Given the description of an element on the screen output the (x, y) to click on. 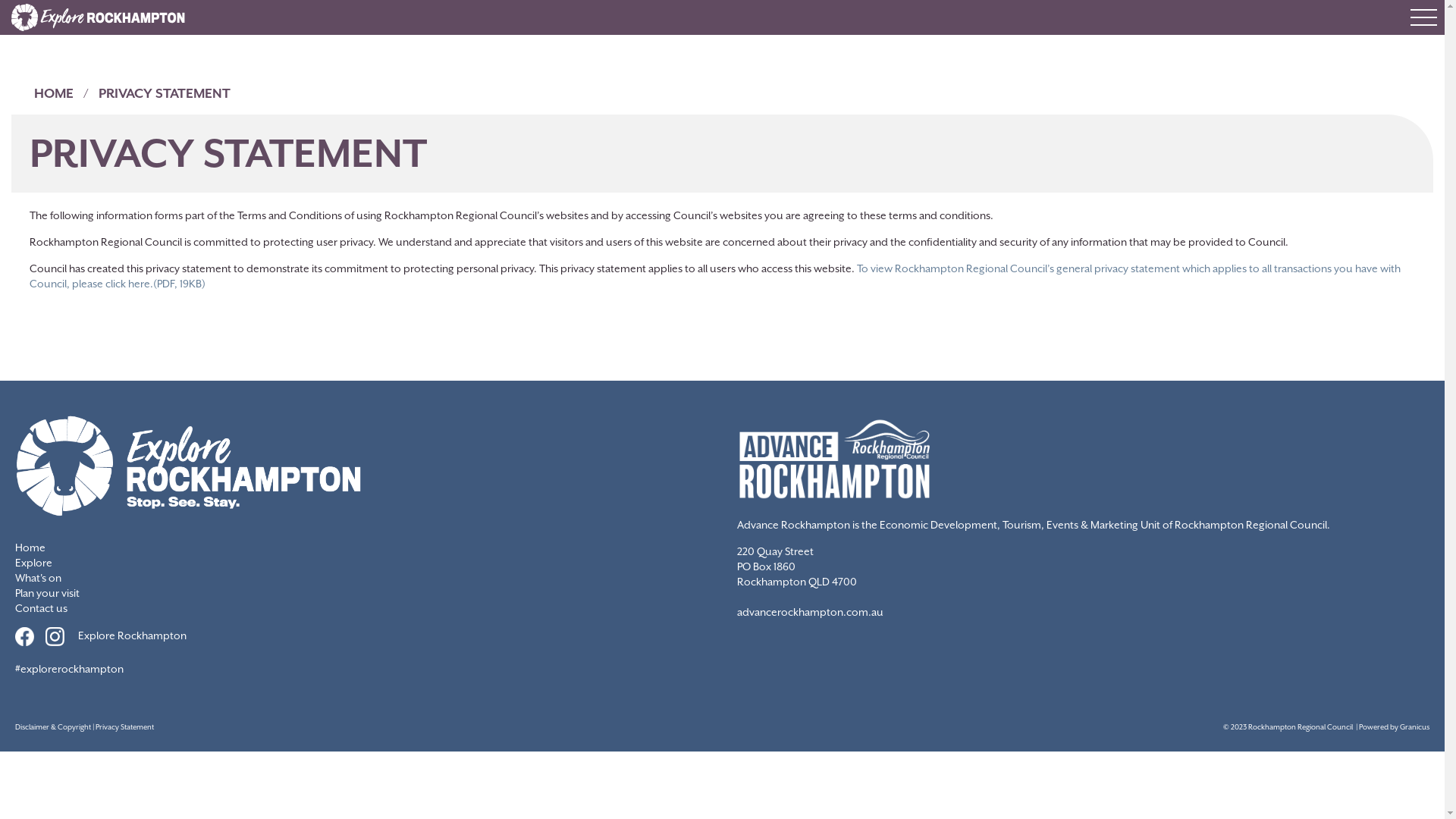
Home Element type: text (30, 547)
Plan your visit Element type: text (47, 592)
advancerockhampton.com.au Element type: text (810, 611)
Contact us Element type: text (41, 608)
Privacy Statement Element type: text (124, 726)
Explore Rockhampton Facebook Element type: hover (30, 635)
Explore Rockhampton Instagram Element type: hover (60, 635)
#explorerockhampton Element type: text (69, 668)
Granicus Element type: text (1414, 726)
Disclaimer & Copyright Element type: text (53, 726)
Explore Element type: text (33, 562)
Open
Menu
below search button Element type: text (1423, 17)
HOME Element type: text (53, 92)
What's on Element type: text (38, 577)
Home - Rockhampton Regional Council - Logo Element type: text (98, 17)
Explore Rockhampton Element type: text (132, 635)
